Given the description of an element on the screen output the (x, y) to click on. 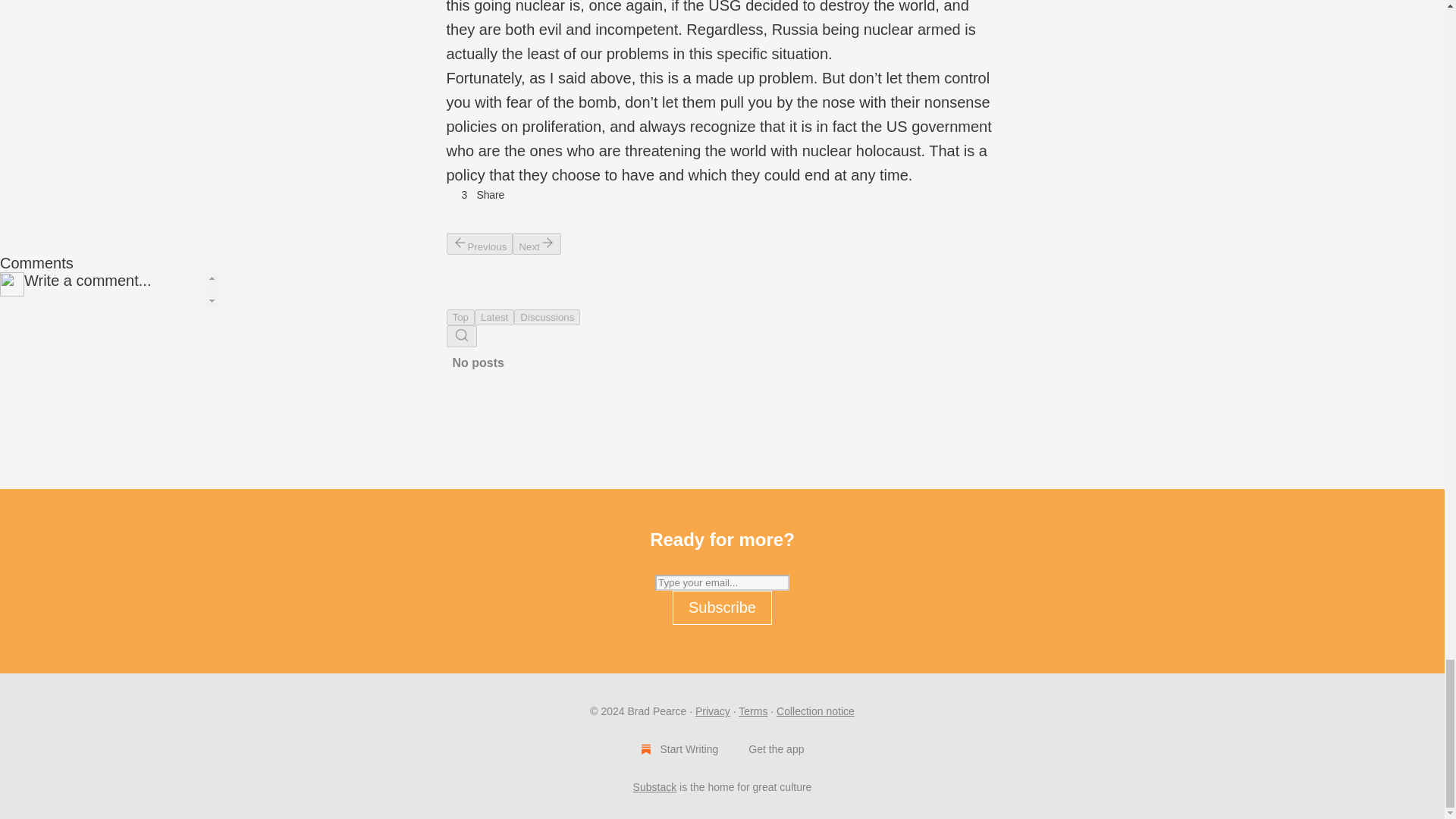
Privacy (712, 711)
Share (489, 194)
Discussions (546, 317)
Previous (478, 243)
Latest (493, 317)
Next (536, 243)
3 (456, 194)
Subscribe (721, 607)
Top (459, 317)
